Given the description of an element on the screen output the (x, y) to click on. 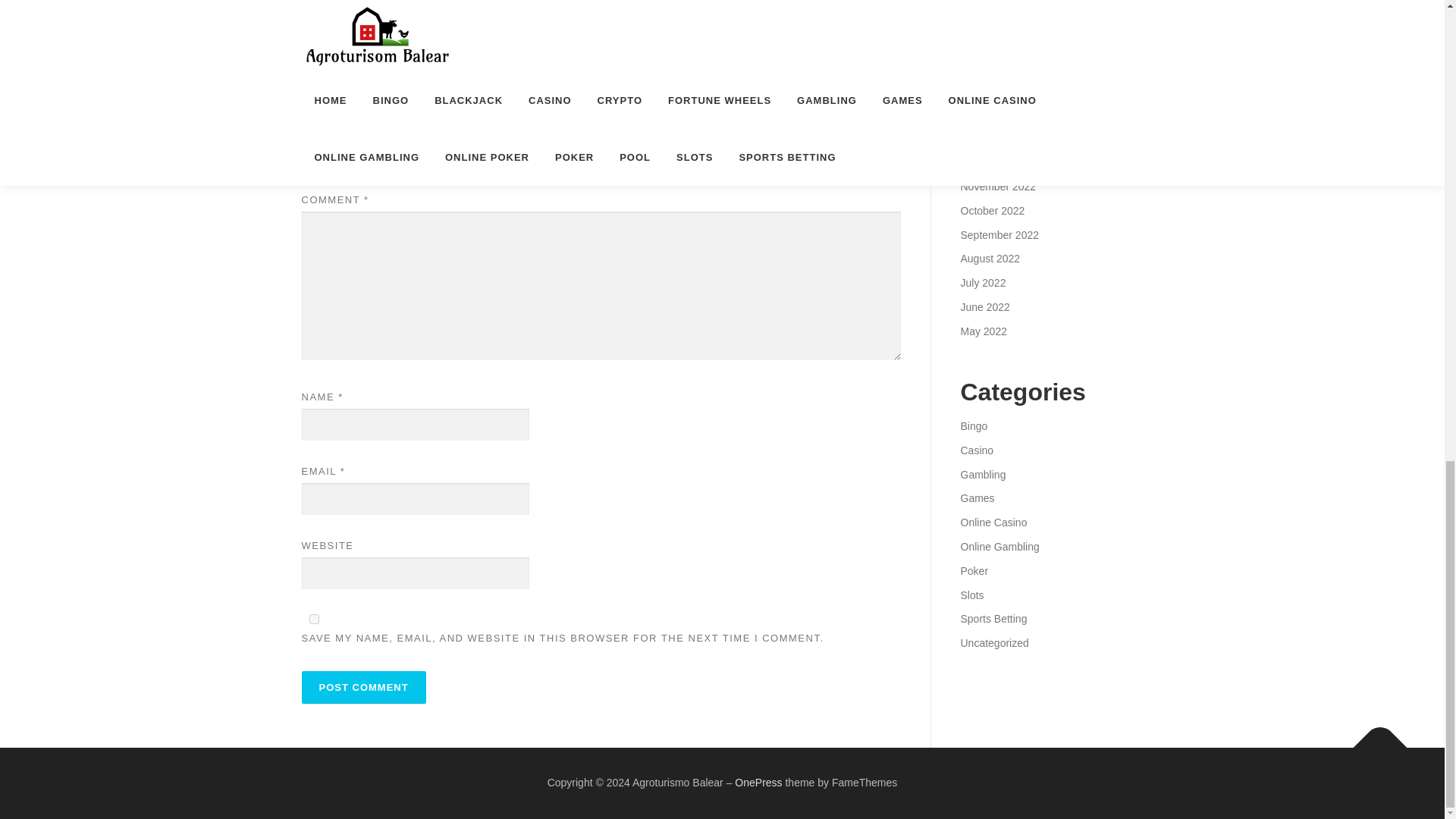
Post Comment (363, 686)
Back To Top (1372, 739)
Post Comment (363, 686)
yes (313, 619)
